Given the description of an element on the screen output the (x, y) to click on. 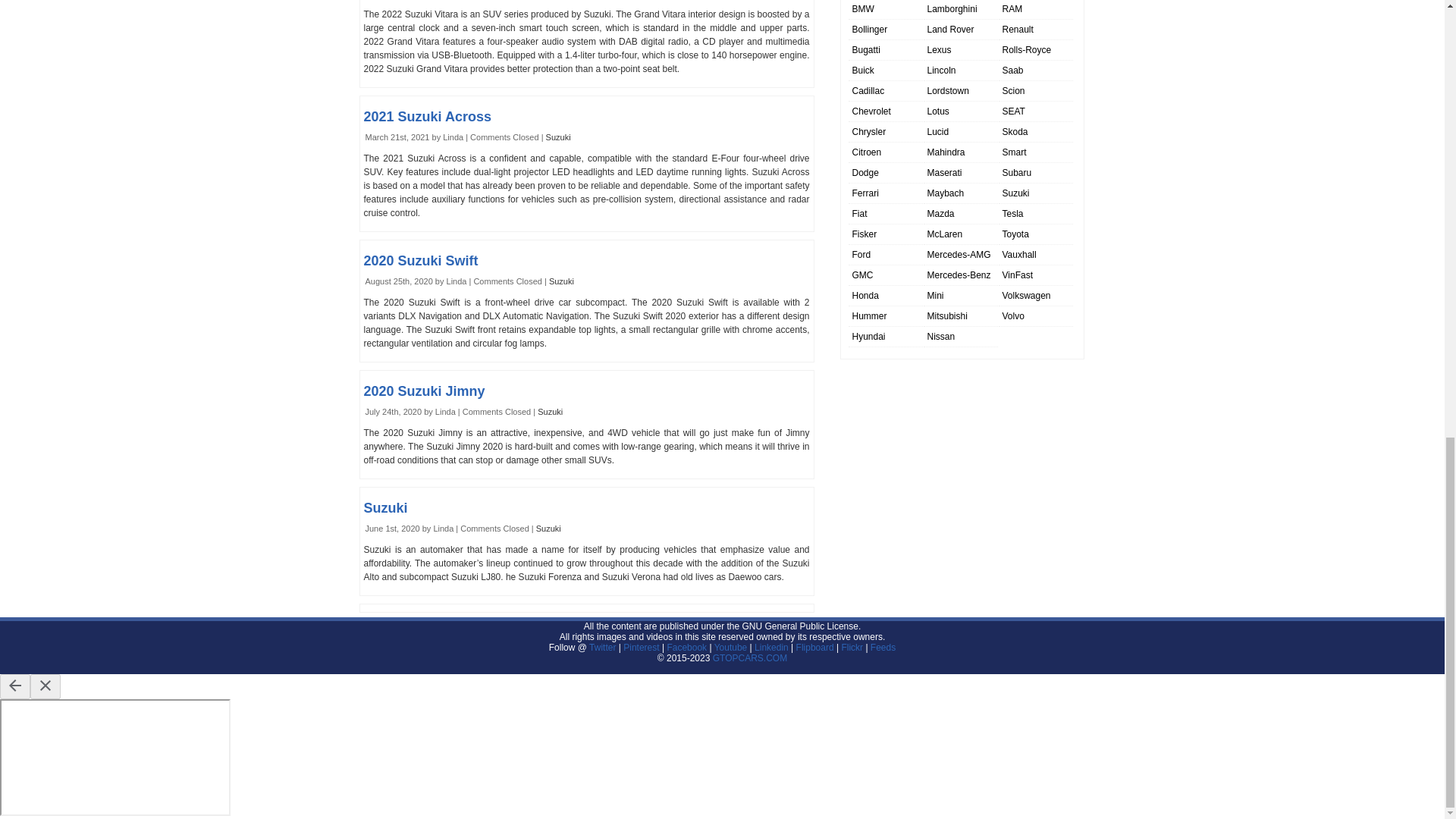
Suzuki (547, 528)
Suzuki (558, 136)
Bugatti (865, 50)
Bollinger (869, 29)
Suzuki (385, 507)
Buick (863, 70)
Cadillac (868, 90)
2020 Suzuki Jimny (424, 391)
Dodge (865, 172)
Chevrolet (871, 111)
